Given the description of an element on the screen output the (x, y) to click on. 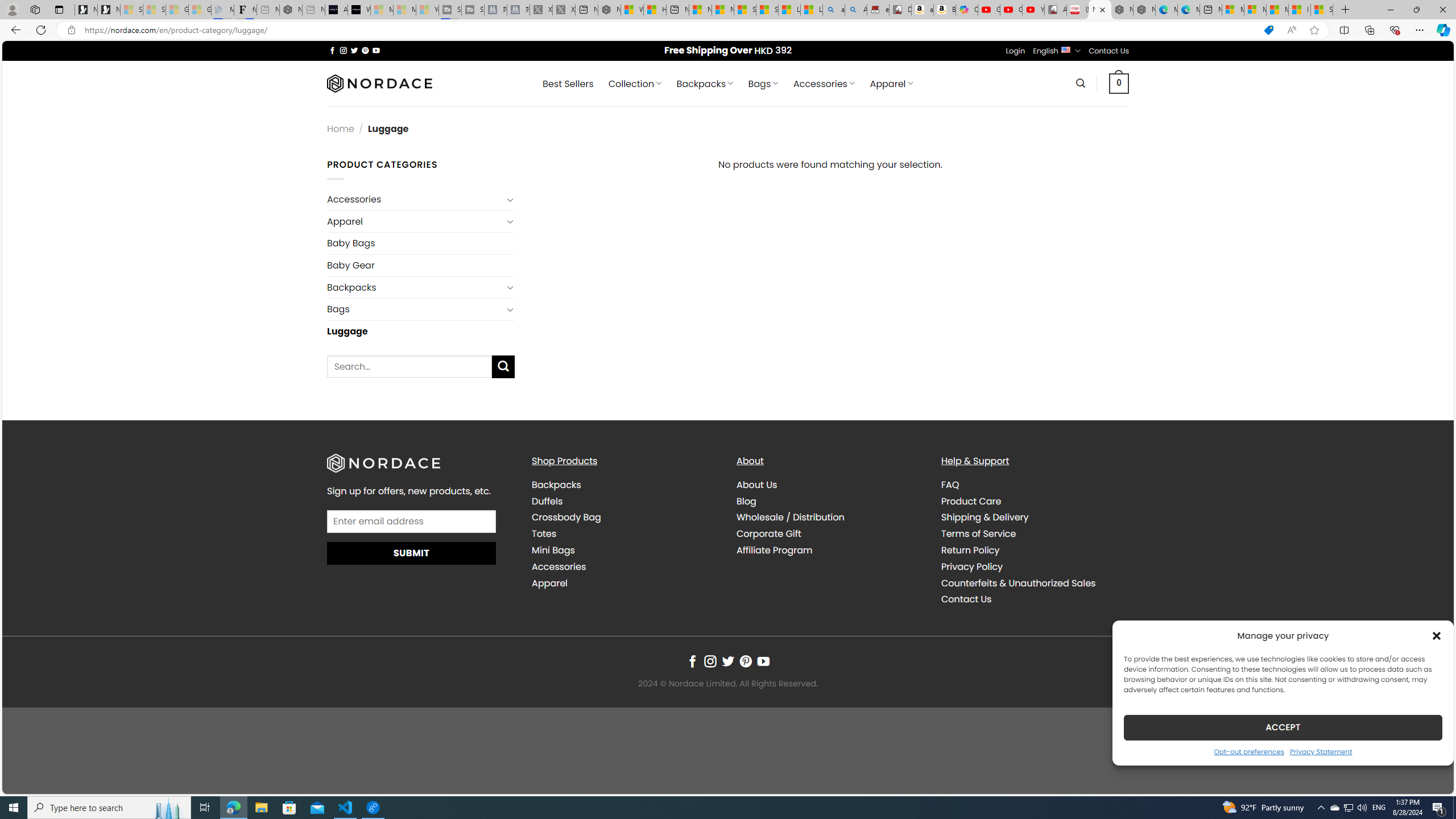
Product Care (970, 500)
 Best Sellers (568, 83)
Gloom - YouTube (1010, 9)
